Given the description of an element on the screen output the (x, y) to click on. 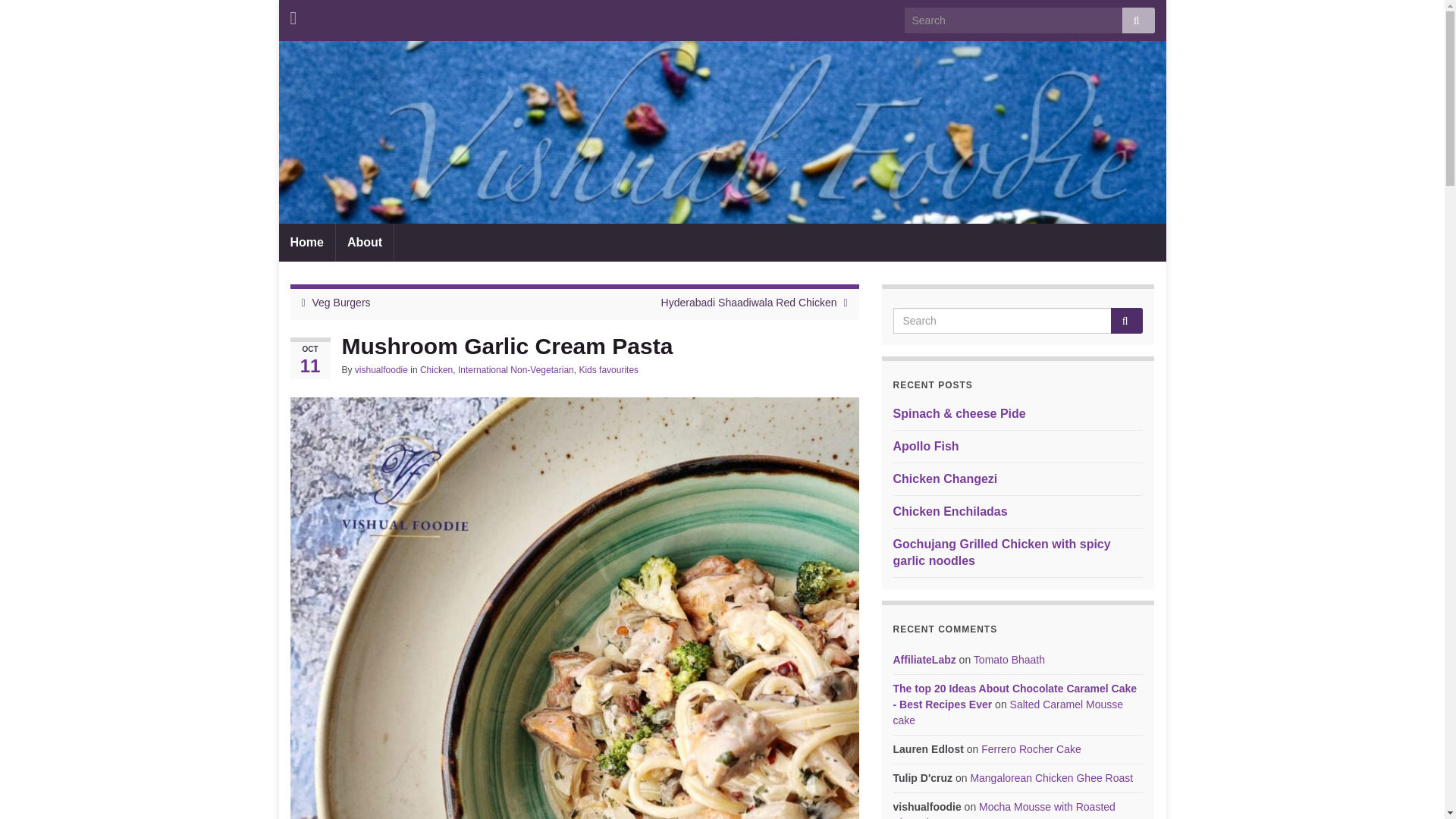
Chicken Enchiladas (950, 511)
Salted Caramel Mousse cake (1008, 712)
About (364, 242)
Apollo Fish (926, 445)
Gochujang Grilled Chicken with spicy garlic noodles (1001, 552)
Tomato Bhaath (1009, 659)
AffiliateLabz (924, 659)
vishualfoodie (381, 369)
Ferrero Rocher Cake (1031, 748)
